Given the description of an element on the screen output the (x, y) to click on. 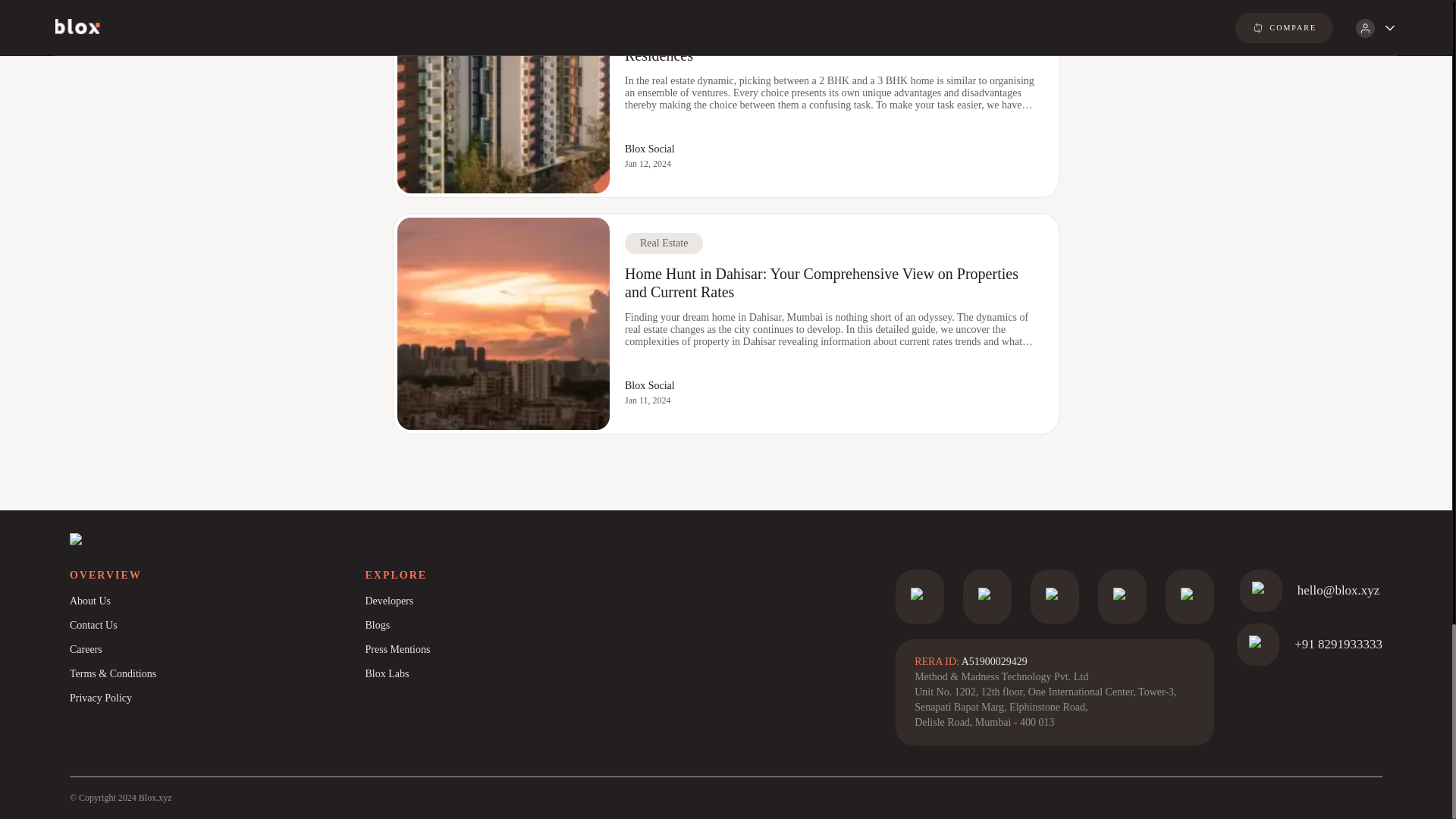
Privacy Policy (217, 698)
Contact Us (217, 625)
Press Mentions (512, 649)
Blogs (512, 625)
Developers (512, 600)
About Us (217, 600)
Careers (217, 649)
Blox Labs (512, 673)
